Given the description of an element on the screen output the (x, y) to click on. 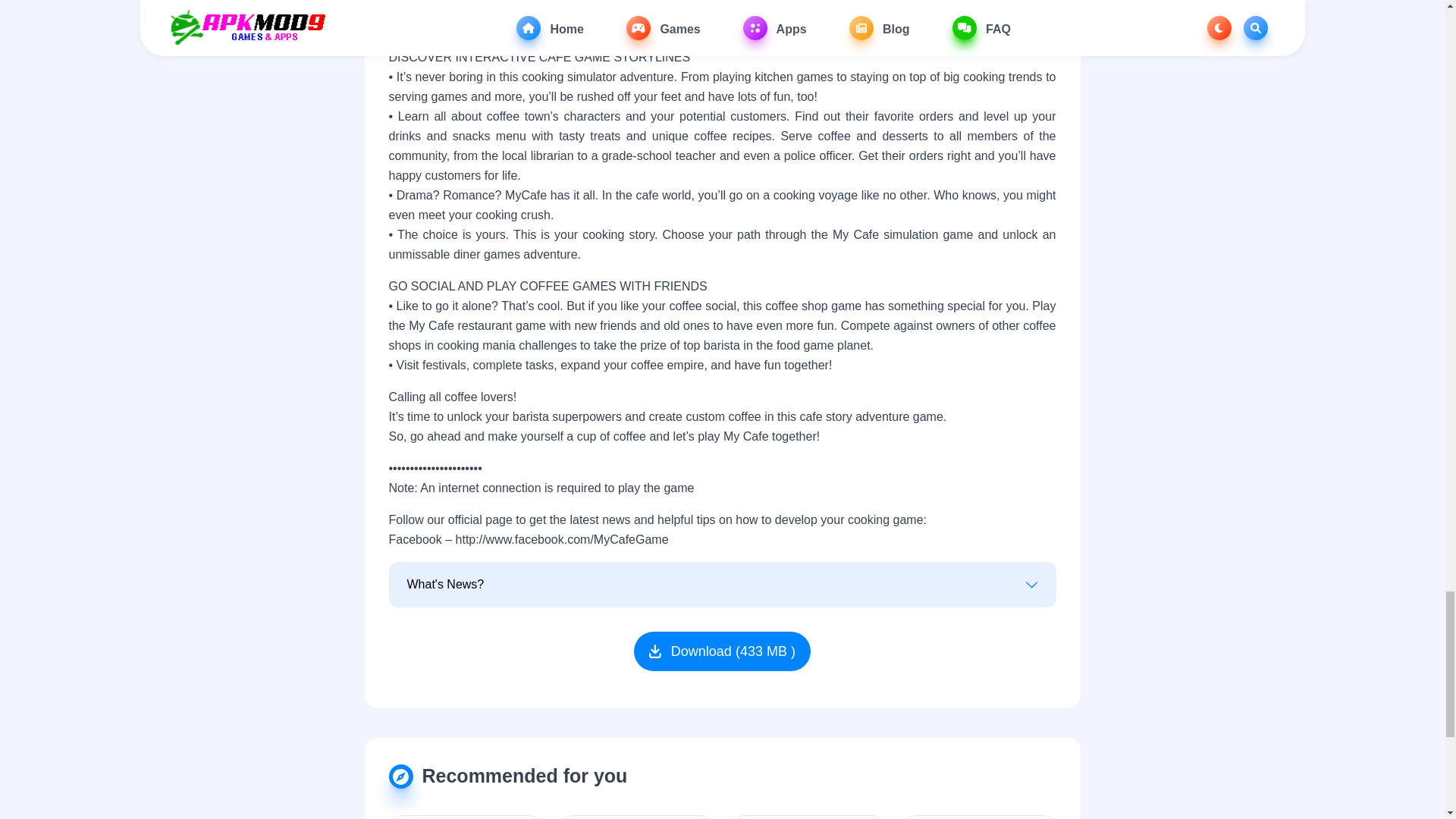
What's News? (721, 584)
